Given the description of an element on the screen output the (x, y) to click on. 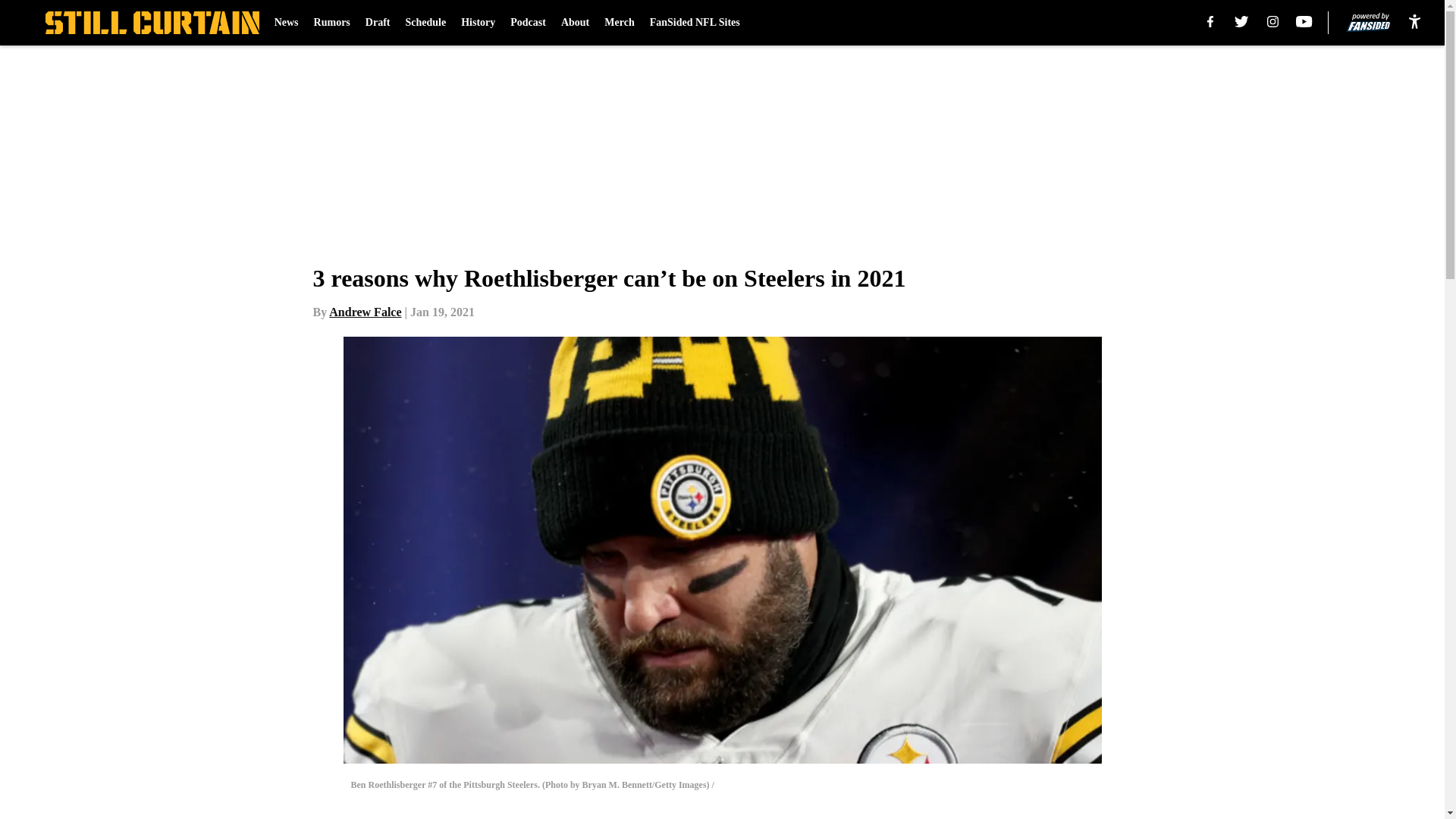
Schedule (424, 22)
Andrew Falce (365, 311)
Rumors (332, 22)
Podcast (528, 22)
Draft (377, 22)
News (286, 22)
FanSided NFL Sites (694, 22)
About (574, 22)
History (478, 22)
Merch (618, 22)
